Given the description of an element on the screen output the (x, y) to click on. 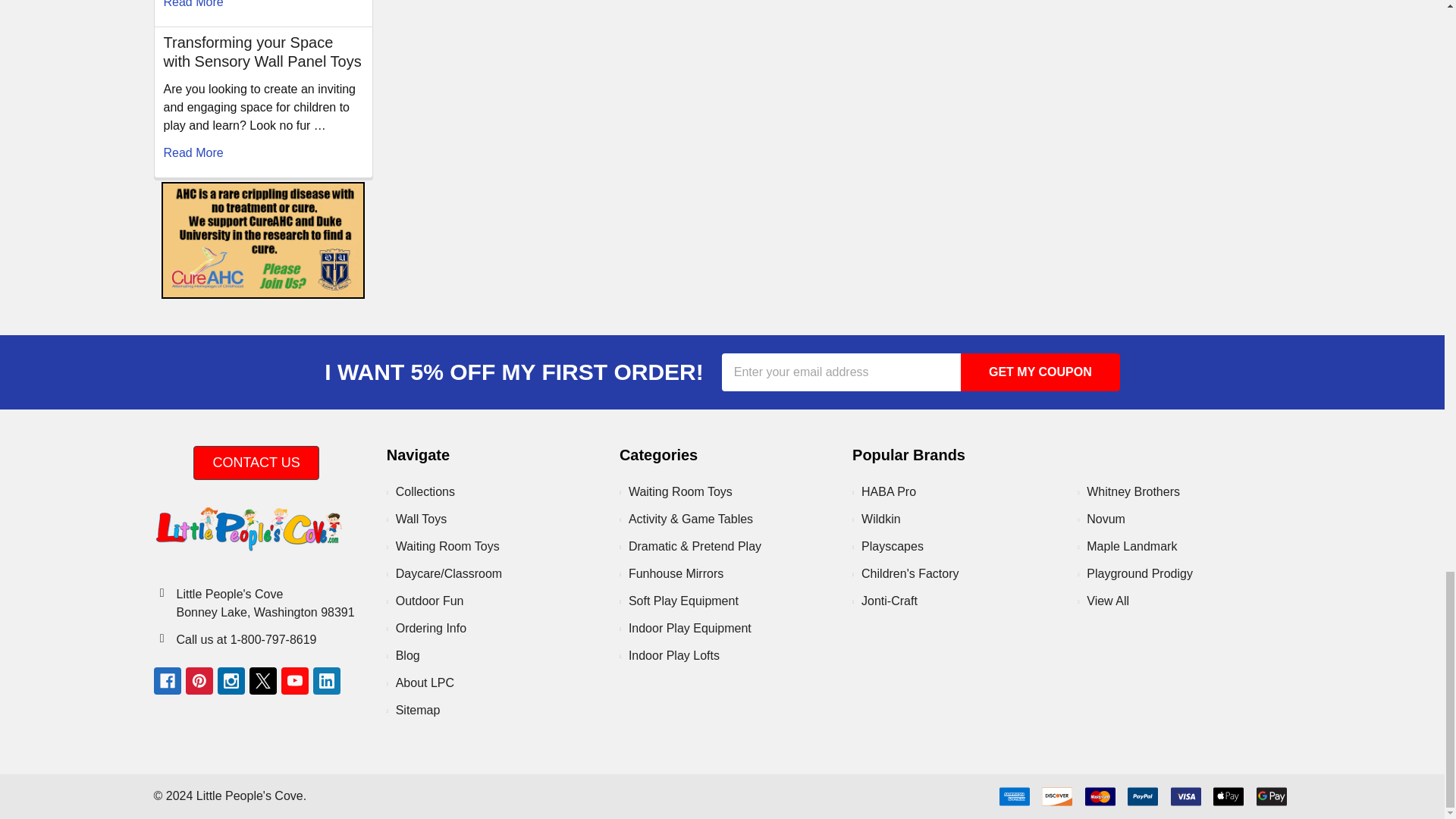
Little People's Cove (247, 529)
GET MY COUPON (1039, 371)
